Given the description of an element on the screen output the (x, y) to click on. 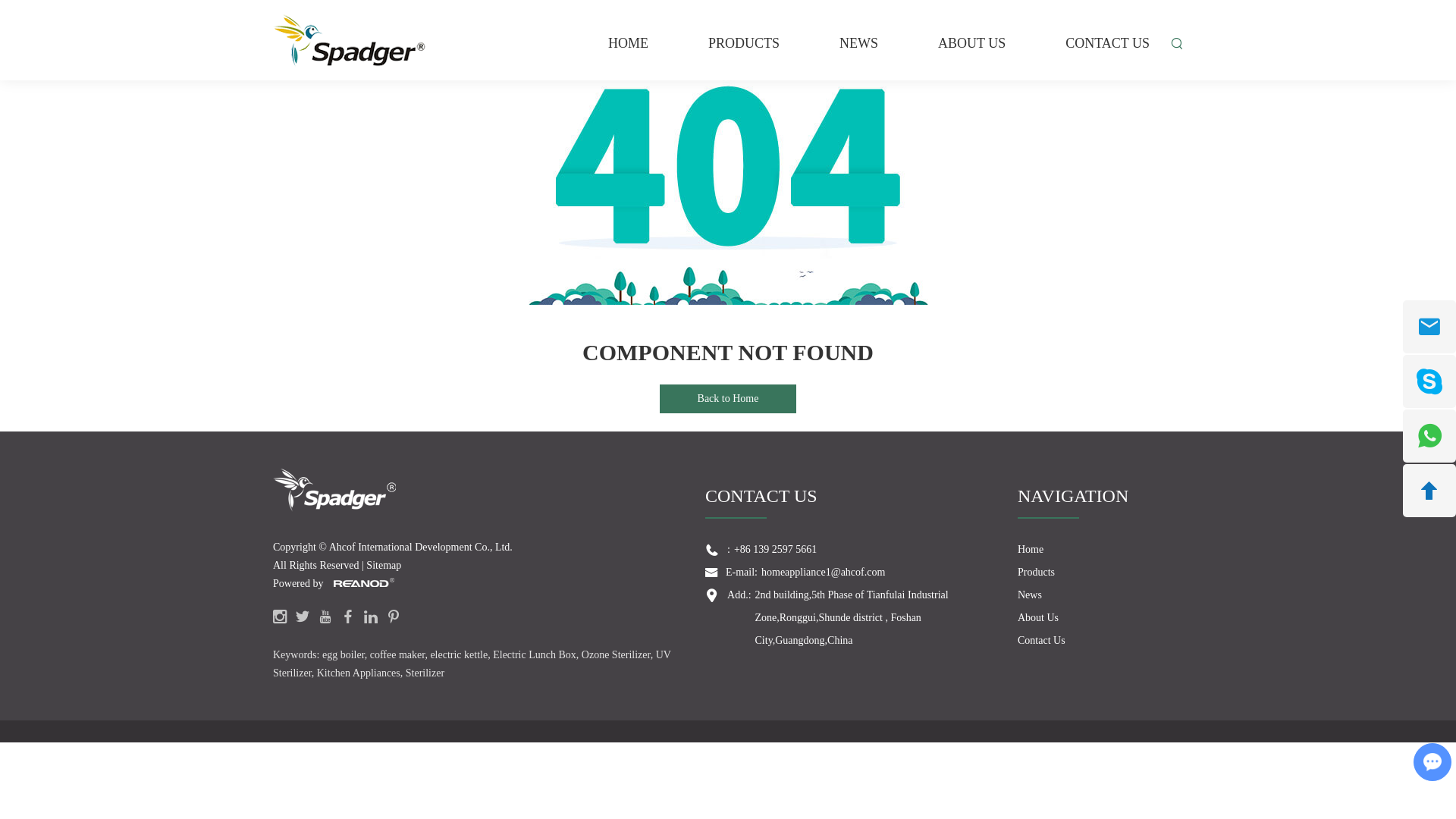
ABOUT US (971, 55)
PRODUCTS (742, 55)
